Given the description of an element on the screen output the (x, y) to click on. 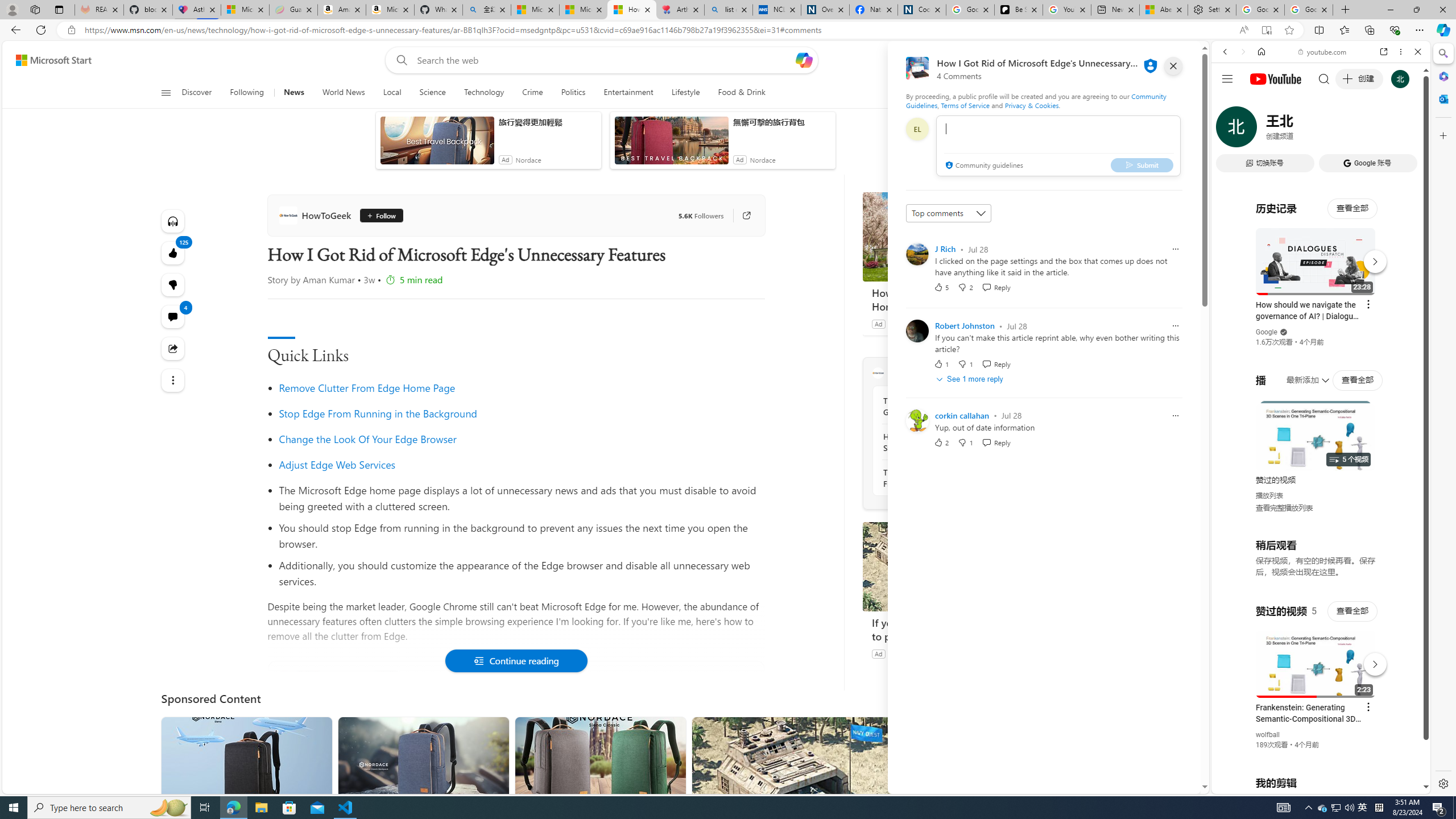
1 Like (940, 364)
Adjust Edge Web Services (521, 464)
125 (172, 284)
Politics (573, 92)
Change the Look Of Your Edge Browser (521, 438)
Food & Drink (737, 92)
#you (1320, 253)
Stop Edge From Running in the Background (377, 413)
Crime (532, 92)
Feedback (1157, 784)
youtube.com (1322, 51)
